Given the description of an element on the screen output the (x, y) to click on. 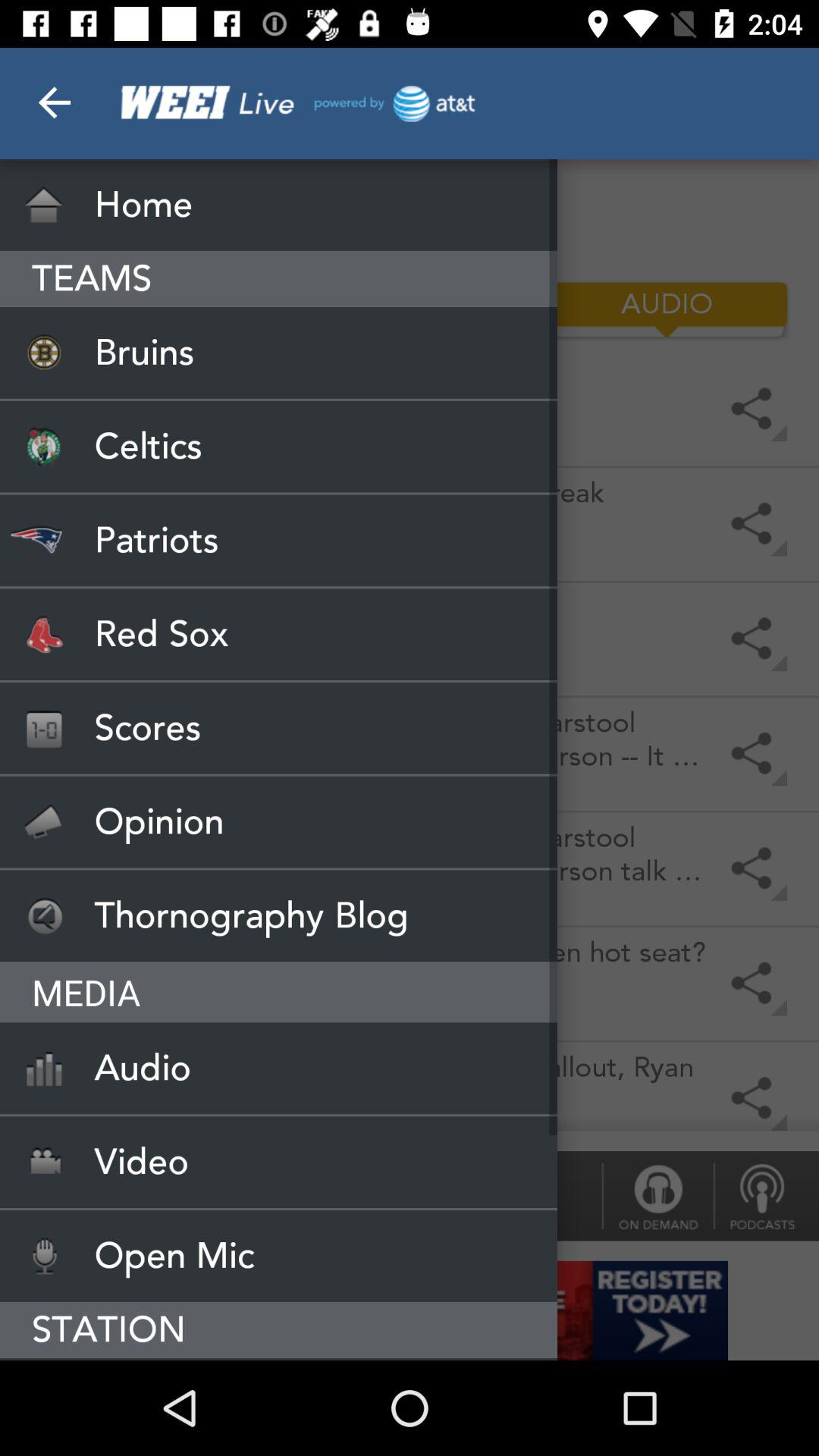
launch the icon above the 1972 bruins (152, 309)
